Given the description of an element on the screen output the (x, y) to click on. 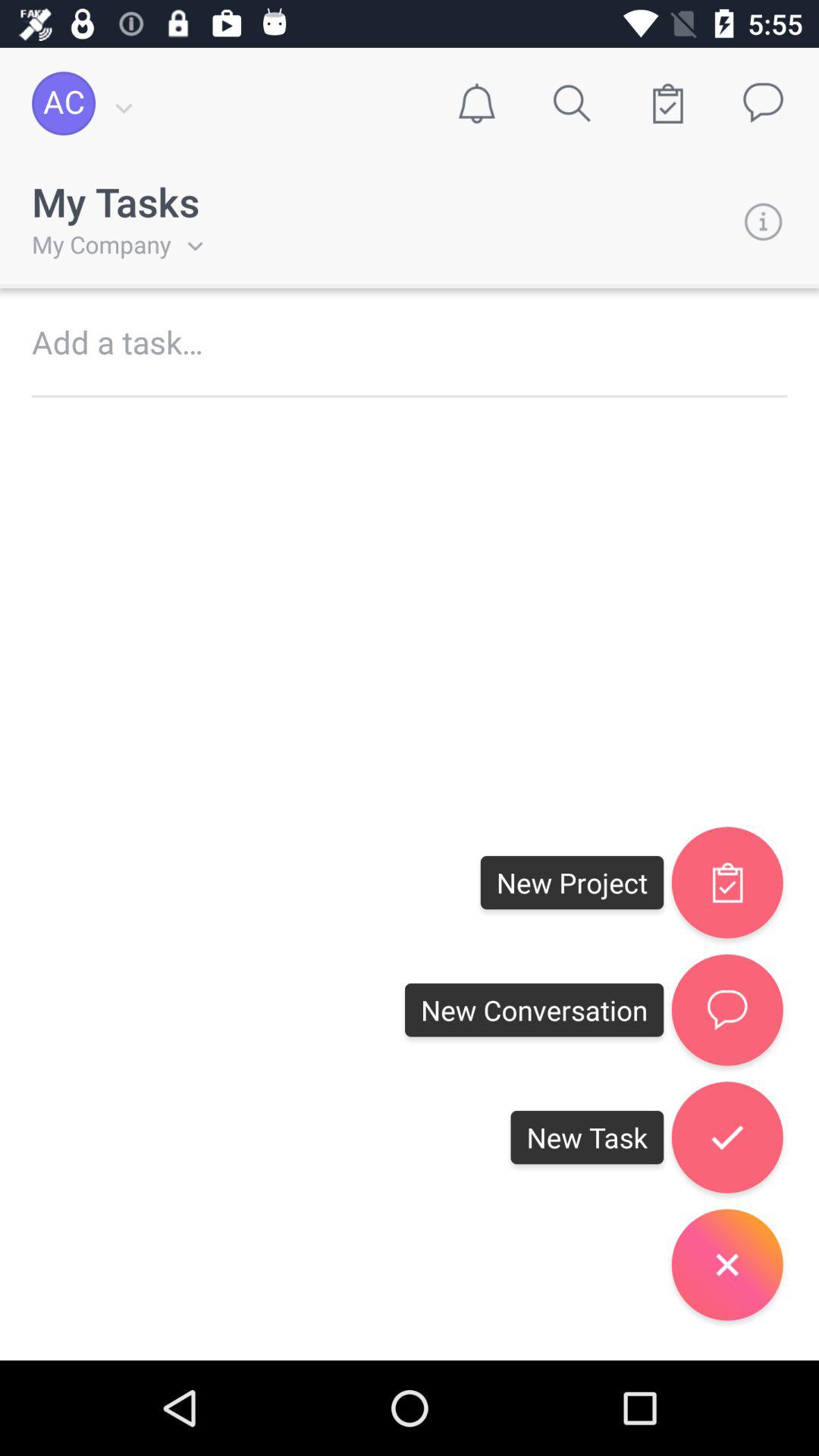
click on close button below right button (727, 1265)
go to message icon on top right (763, 103)
choose the icon right to the search  (667, 103)
choose the dropdown menu next to my company (187, 244)
go to black box with text new conversation on the right (534, 1010)
go to search icon (571, 103)
